Given the description of an element on the screen output the (x, y) to click on. 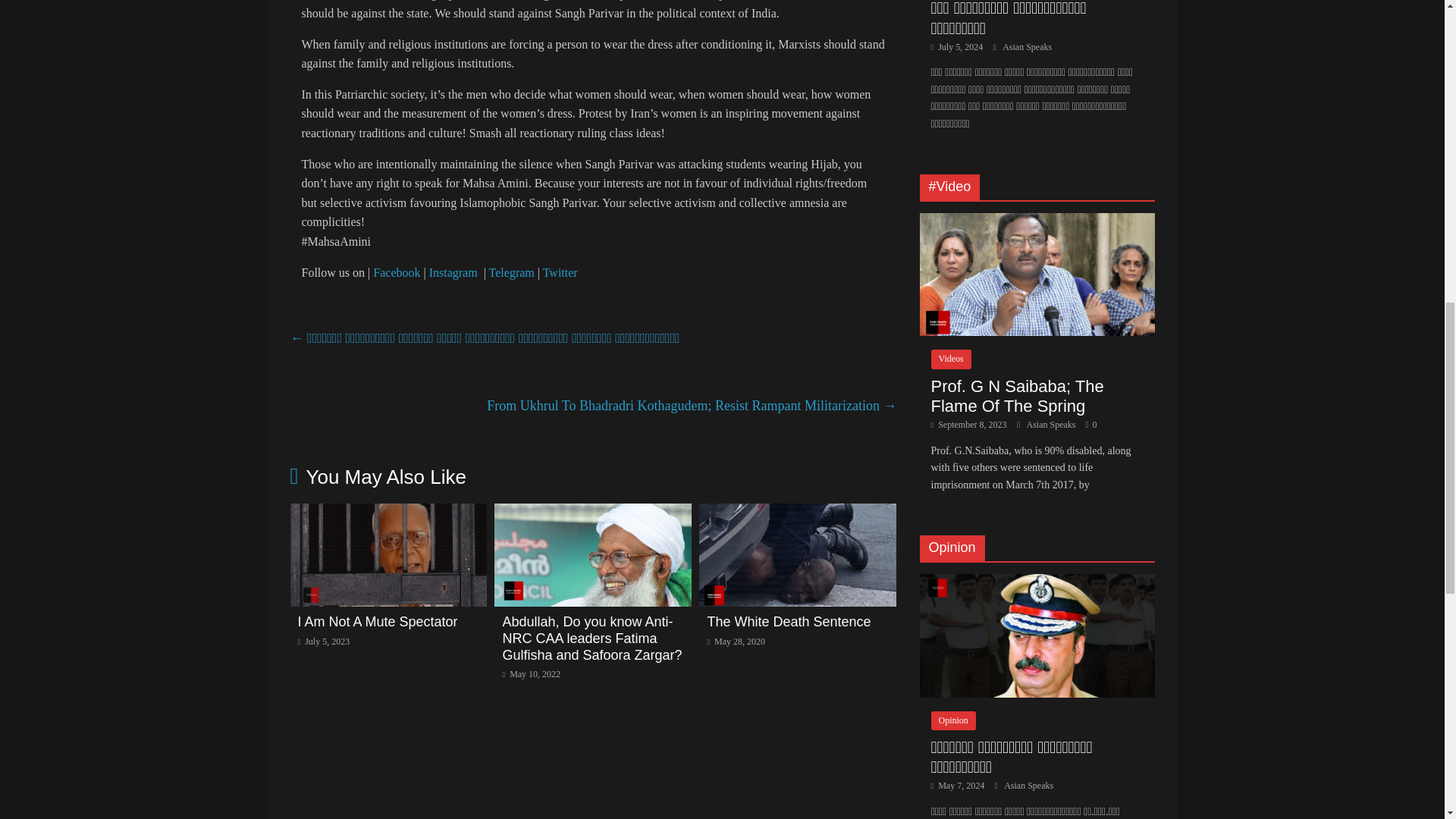
6:57 am (531, 674)
I Am Not A Mute Spectator (387, 512)
Telegram (511, 271)
4:30 pm (735, 641)
The White Death Sentence (788, 621)
May 10, 2022 (531, 674)
Twitter (560, 271)
I Am Not A Mute Spectator (377, 621)
July 5, 2023 (323, 641)
I Am Not A Mute Spectator (377, 621)
12:06 pm (323, 641)
Instagram  (454, 271)
